Given the description of an element on the screen output the (x, y) to click on. 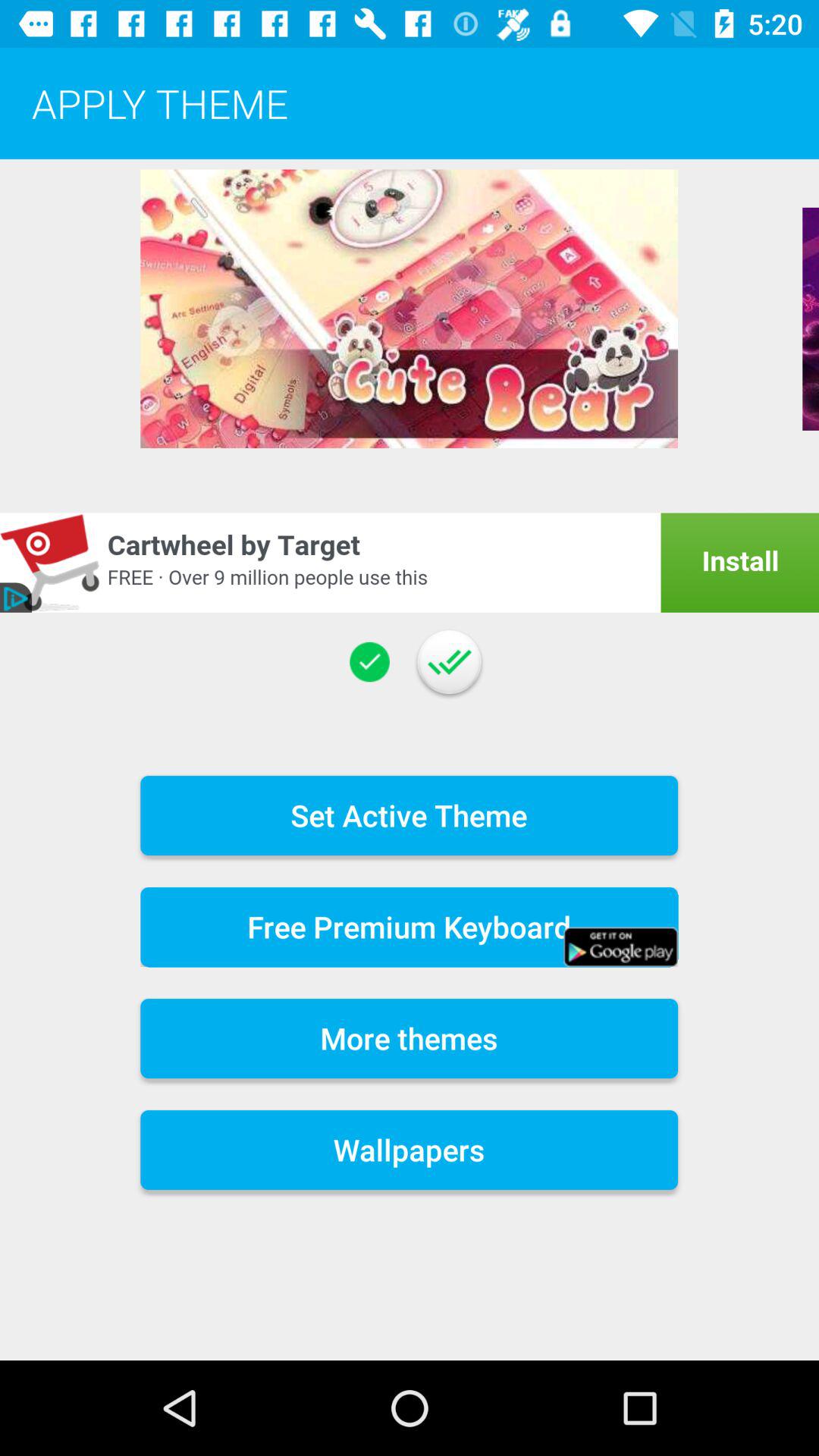
scroll to wallpapers (408, 1149)
